Given the description of an element on the screen output the (x, y) to click on. 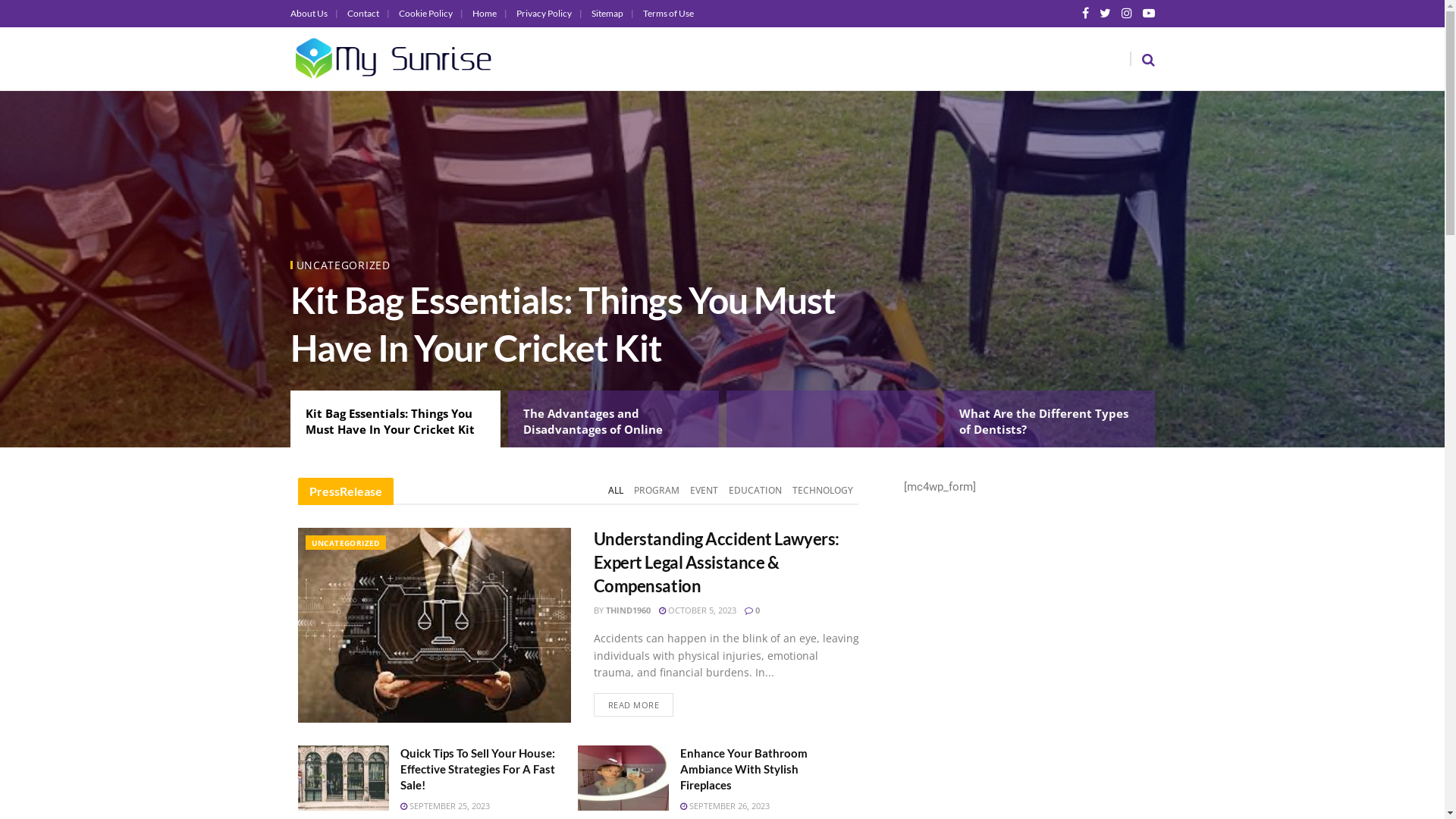
The Advantages and Disadvantages of Online Gambling Element type: text (613, 418)
EDUCATION Element type: text (755, 490)
What Are the Different Types of Dentists? Element type: text (1049, 418)
THIND1960 Element type: text (627, 609)
About Us Element type: text (313, 13)
Home Element type: text (488, 13)
Enhance Your Bathroom Ambiance With Stylish Fireplaces Element type: text (743, 768)
Cookie Policy Element type: text (430, 13)
PROGRAM Element type: text (656, 490)
TECHNOLOGY Element type: text (822, 490)
OCTOBER 5, 2023 Element type: text (696, 609)
SEPTEMBER 26, 2023 Element type: text (724, 805)
0 Element type: text (751, 609)
UNCATEGORIZED Element type: text (344, 542)
UNCATEGORIZED Element type: text (342, 264)
Contact Element type: text (368, 13)
SEPTEMBER 25, 2023 Element type: text (444, 805)
READ MORE Element type: text (633, 705)
Kit Bag Essentials: Things You Must Have In Your Cricket Kit Element type: text (394, 418)
Terms of Use Element type: text (668, 13)
Sitemap Element type: text (612, 13)
ALL Element type: text (615, 490)
EVENT Element type: text (703, 490)
Kit Bag Essentials: Things You Must Have In Your Cricket Kit Element type: text (561, 323)
Privacy Policy Element type: text (548, 13)
